Given the description of an element on the screen output the (x, y) to click on. 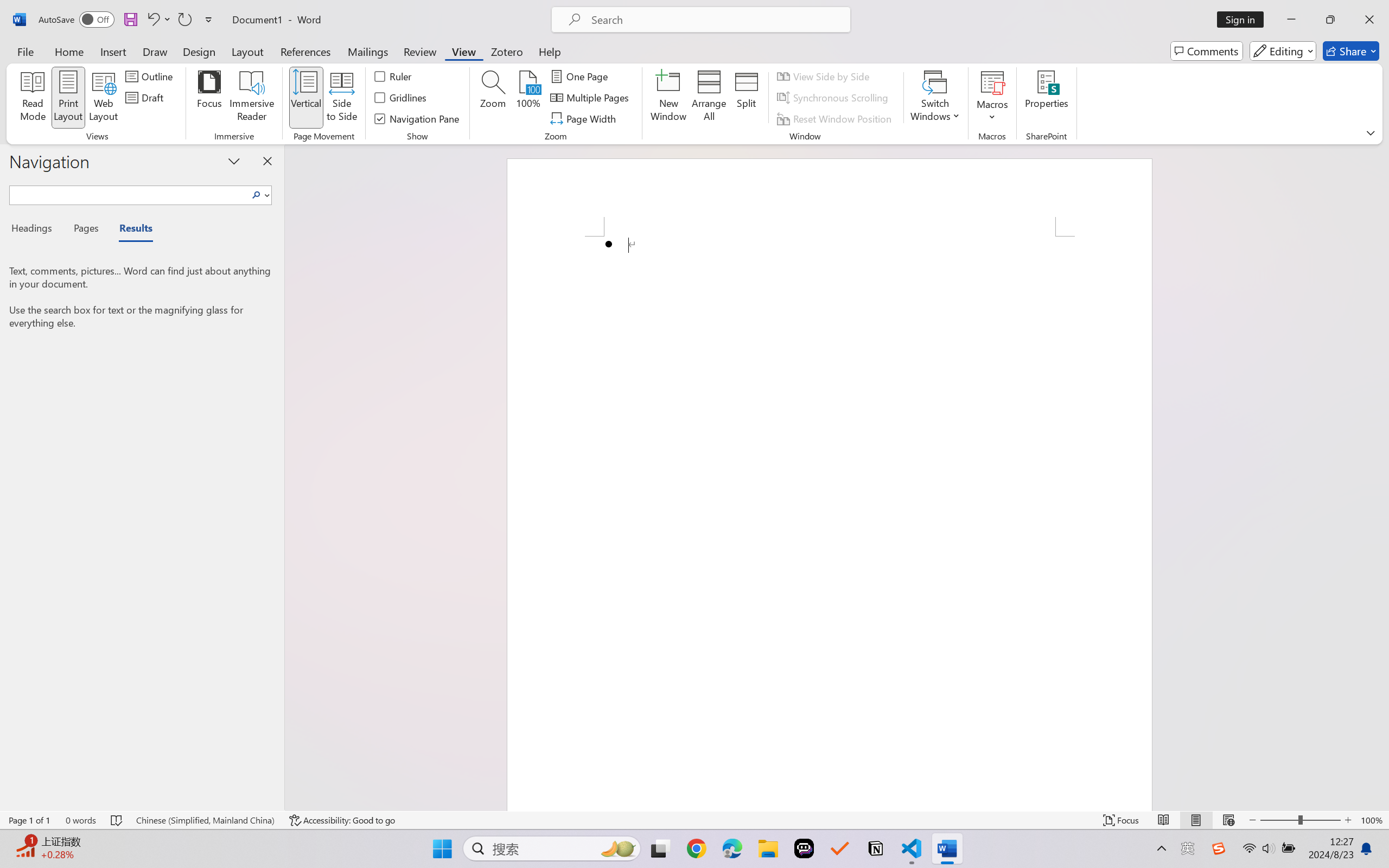
Sign in (1244, 19)
Gridlines (401, 97)
Synchronous Scrolling (834, 97)
